Given the description of an element on the screen output the (x, y) to click on. 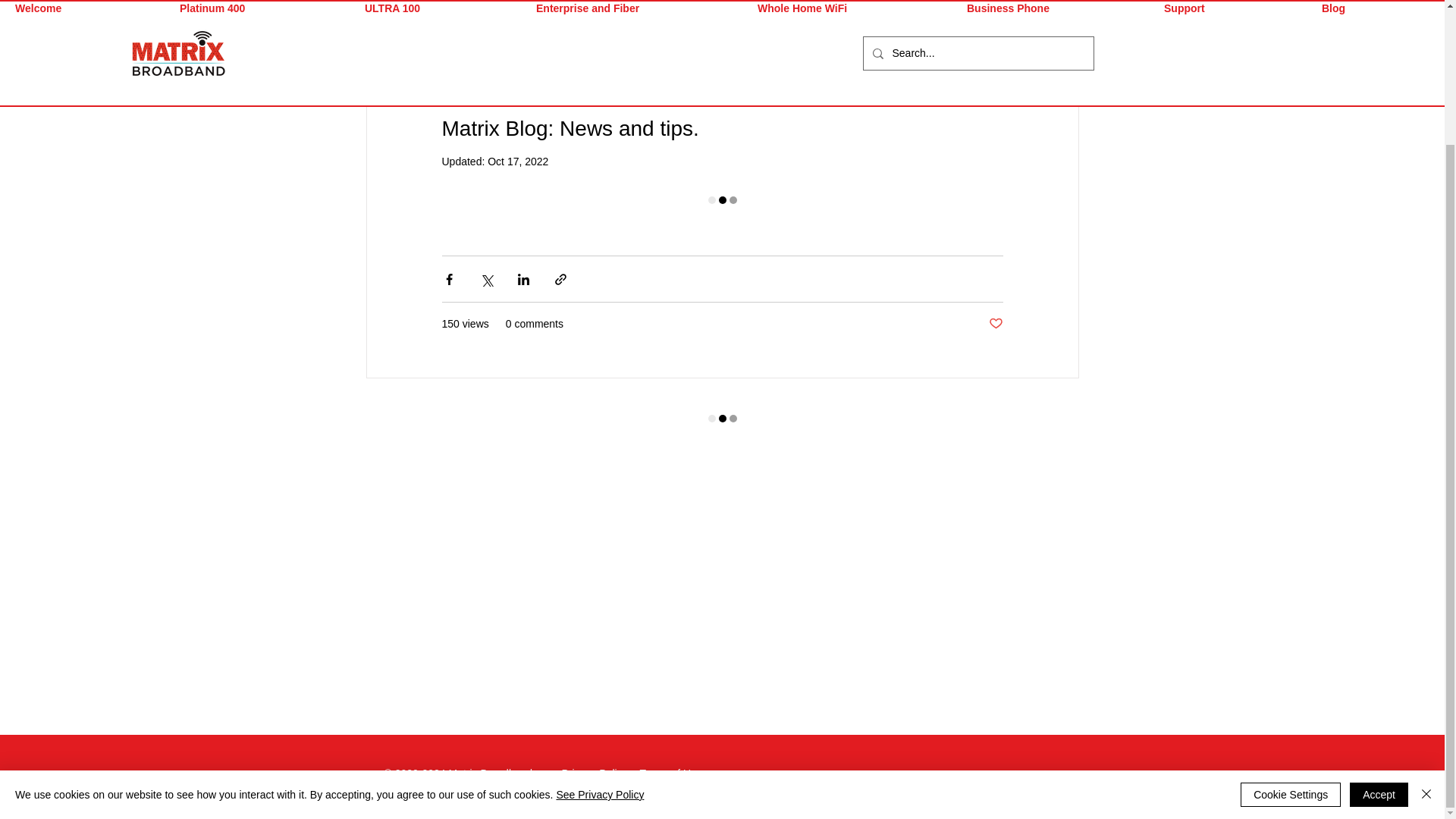
Terms of Use (670, 773)
Cookie Settings (1290, 629)
Chau Jasty (496, 75)
See Privacy Policy (599, 629)
1 min read (655, 75)
Post not marked as liked (995, 324)
Oct 12, 2022 (586, 75)
Oct 17, 2022 (517, 161)
Privacy Policy (593, 773)
Accept (1378, 629)
